Given the description of an element on the screen output the (x, y) to click on. 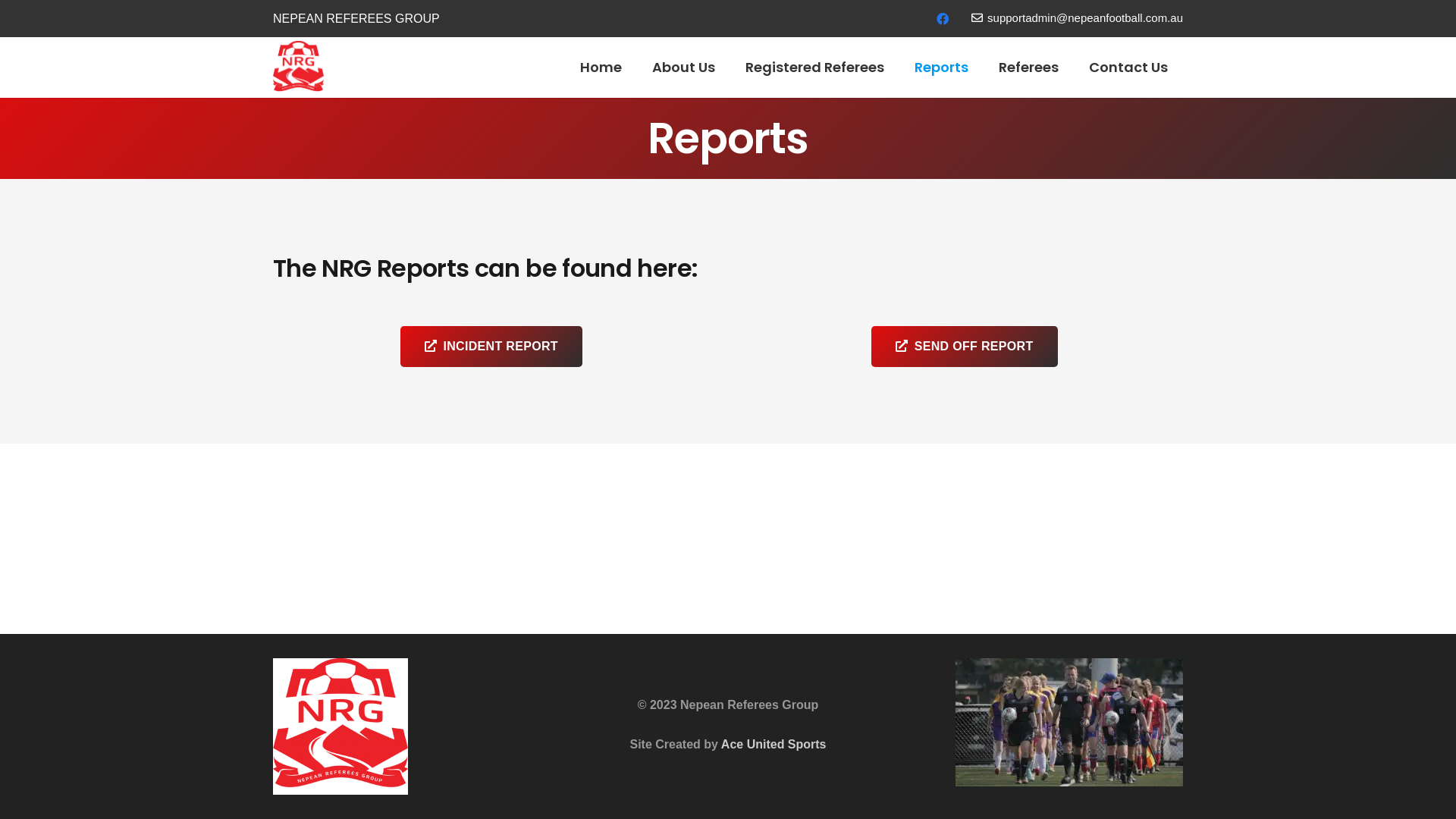
Ace United Sports Element type: text (773, 743)
About Us Element type: text (683, 67)
supportadmin@nepeanfootball.com.au Element type: text (1077, 17)
Registered Referees Element type: text (814, 67)
Referees Element type: text (1028, 67)
Reports Element type: text (941, 67)
Contact Us Element type: text (1128, 67)
SEND OFF REPORT Element type: text (964, 346)
Home Element type: text (600, 67)
INCIDENT REPORT Element type: text (491, 346)
Facebook Element type: hover (942, 18)
